Given the description of an element on the screen output the (x, y) to click on. 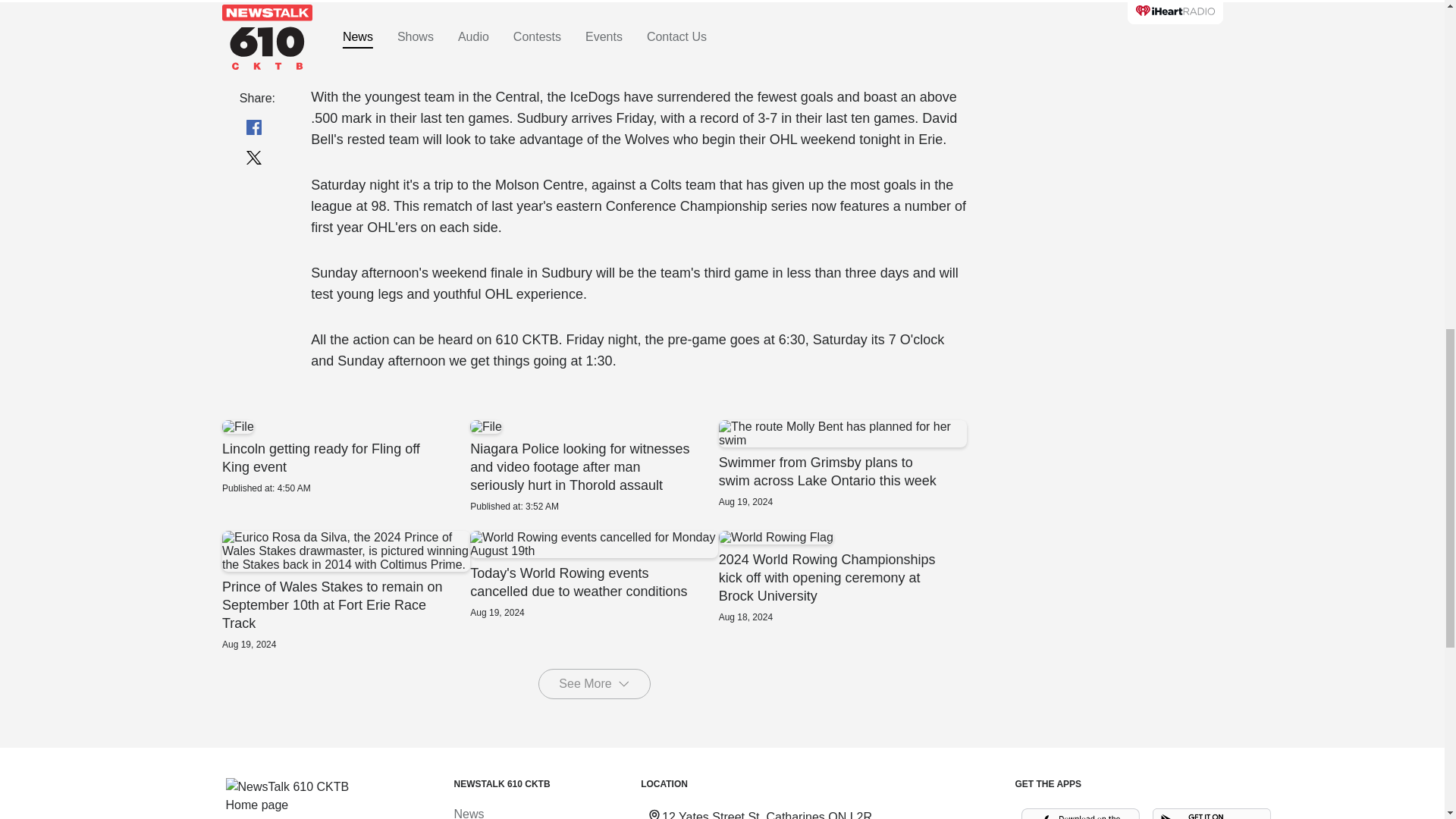
See More (593, 684)
Lincoln getting ready for Fling off King event (344, 457)
Get it on Google Play (1212, 813)
